Given the description of an element on the screen output the (x, y) to click on. 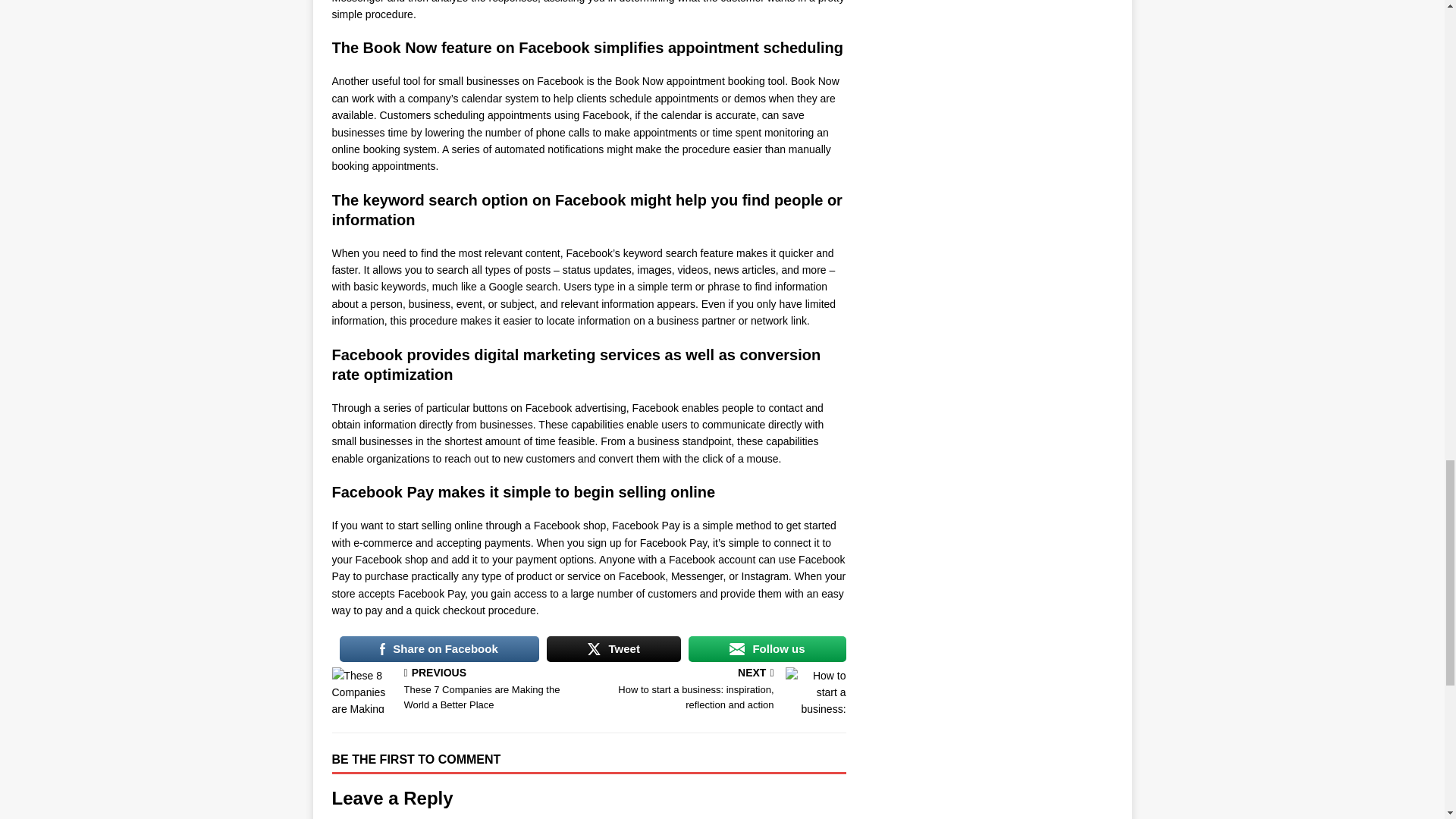
Share on Facebook (438, 648)
Follow us (766, 648)
Tweet (614, 648)
